Given the description of an element on the screen output the (x, y) to click on. 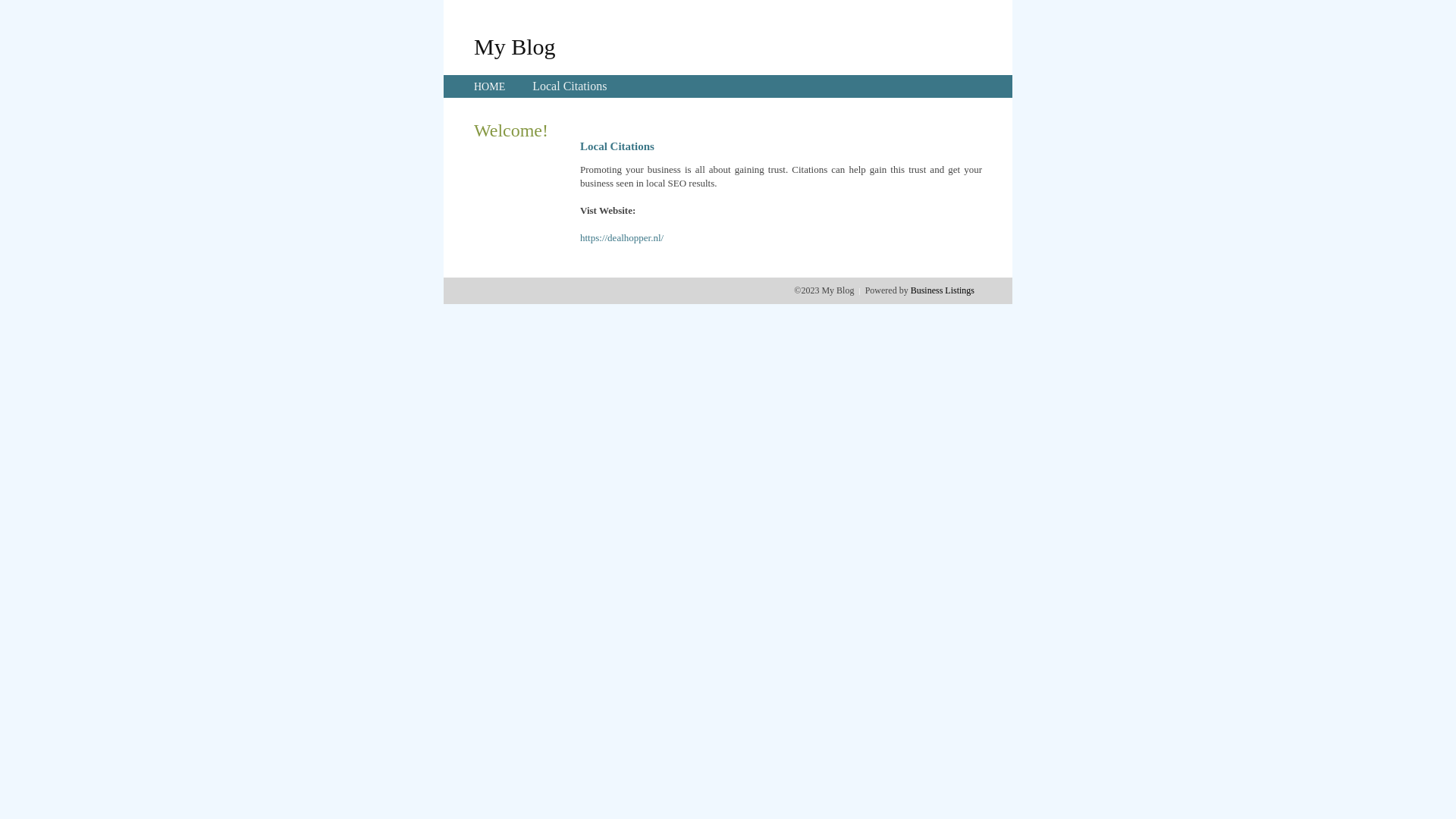
HOME Element type: text (489, 86)
My Blog Element type: text (514, 46)
https://dealhopper.nl/ Element type: text (621, 237)
Local Citations Element type: text (569, 85)
Business Listings Element type: text (942, 290)
